Given the description of an element on the screen output the (x, y) to click on. 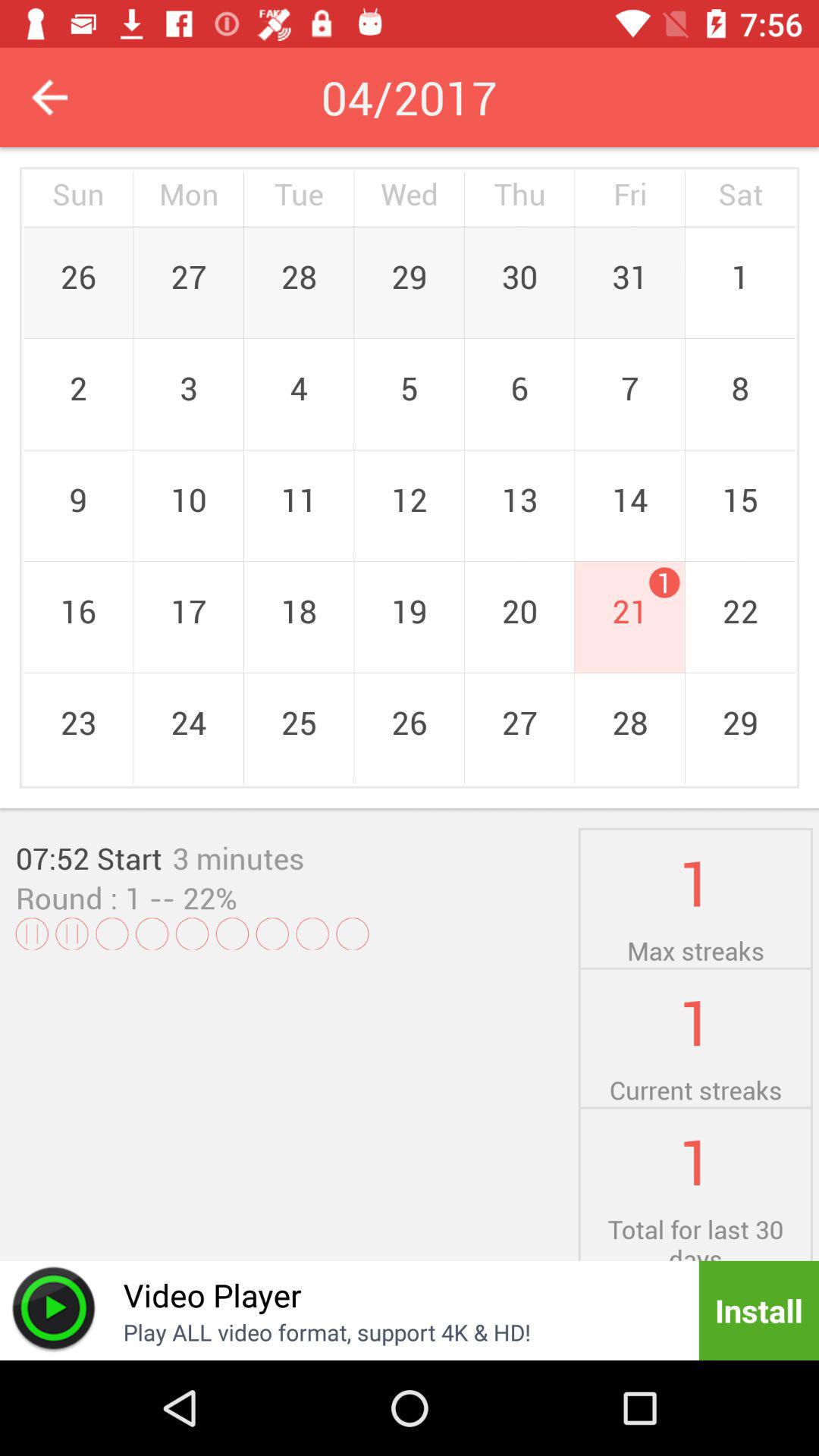
turn on 07:52 start item (88, 858)
